Given the description of an element on the screen output the (x, y) to click on. 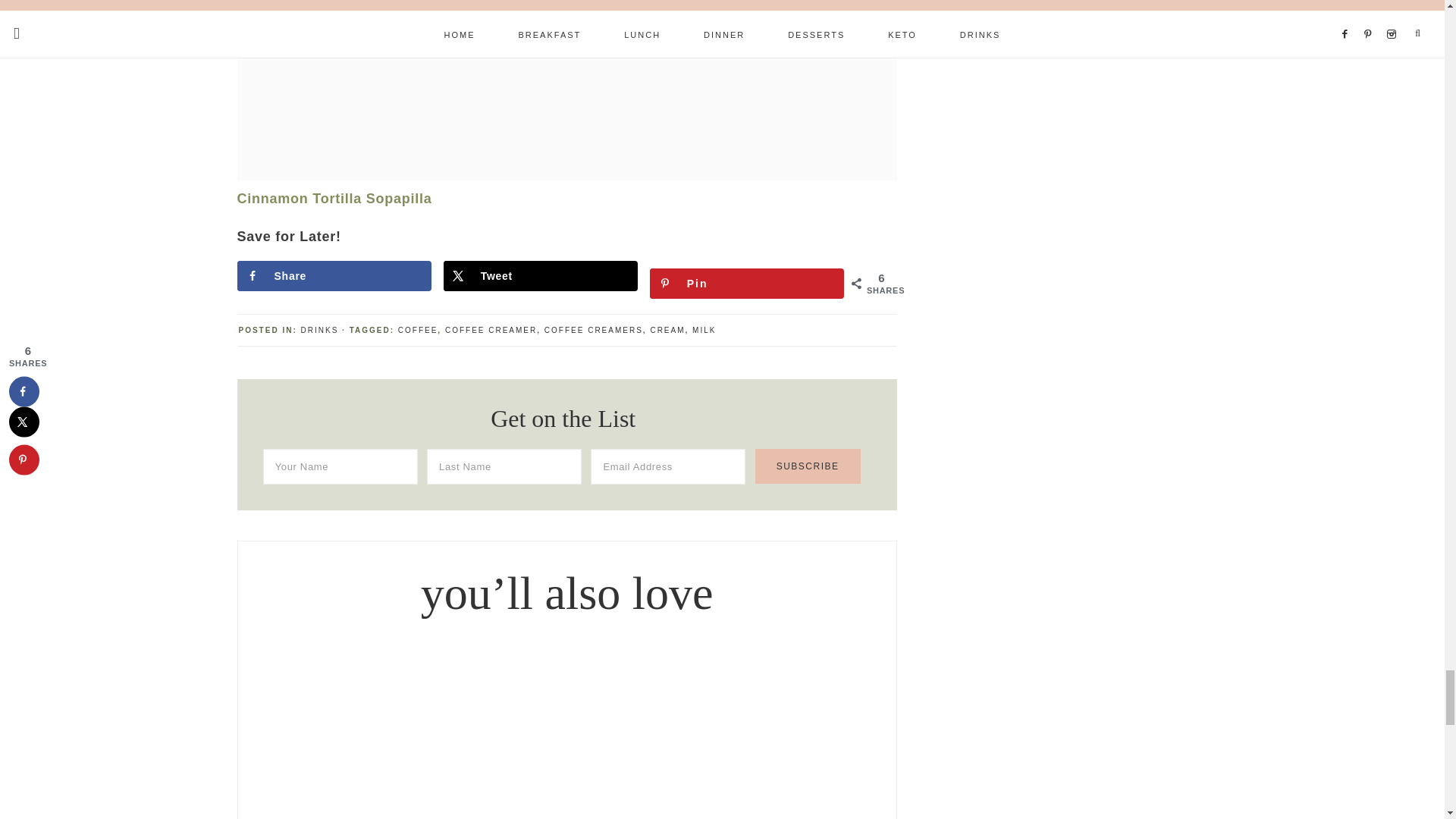
Subscribe (807, 466)
Share on X (540, 276)
Save to Pinterest (746, 283)
Share on Facebook (332, 276)
